Given the description of an element on the screen output the (x, y) to click on. 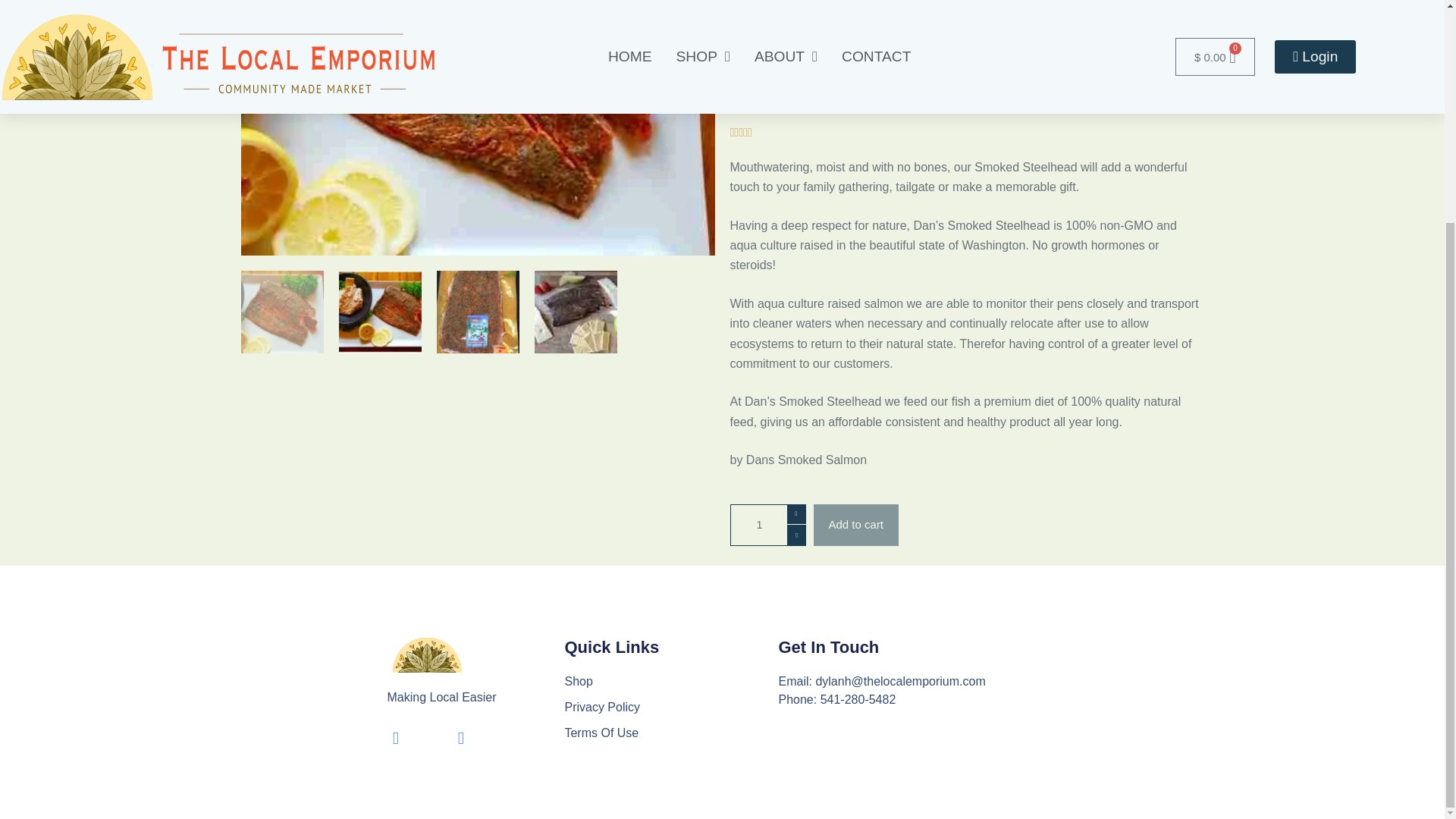
Dans-Smoked-Steelhead (477, 127)
1 (767, 525)
No reviews yet! (812, 9)
